Given the description of an element on the screen output the (x, y) to click on. 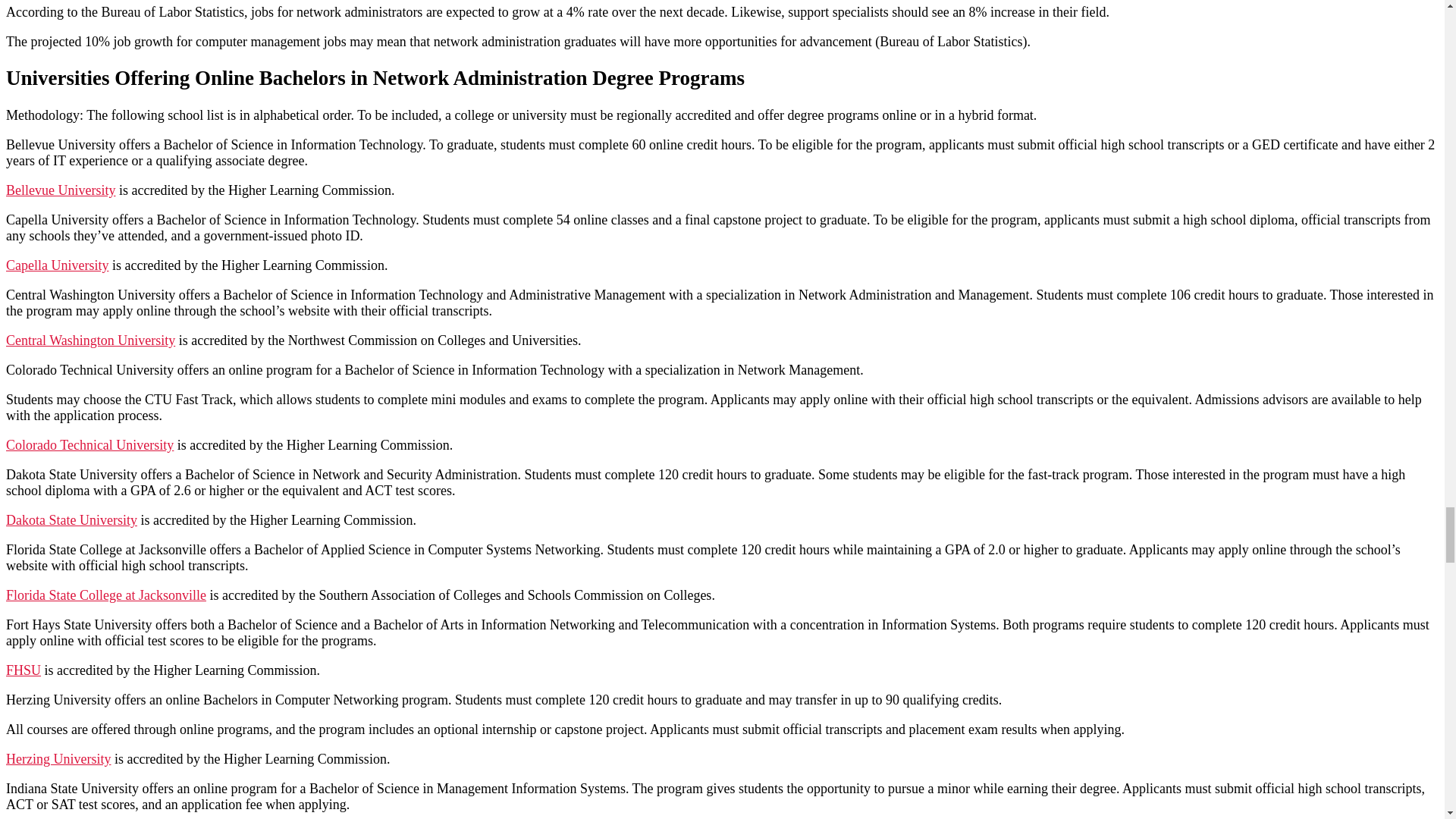
Florida State College at Jacksonville (105, 595)
Capella University (56, 264)
Herzing University (57, 758)
Colorado Technical University (89, 444)
FHSU (22, 670)
Bellevue University (60, 190)
Central Washington University (89, 340)
Dakota State University (70, 519)
